Given the description of an element on the screen output the (x, y) to click on. 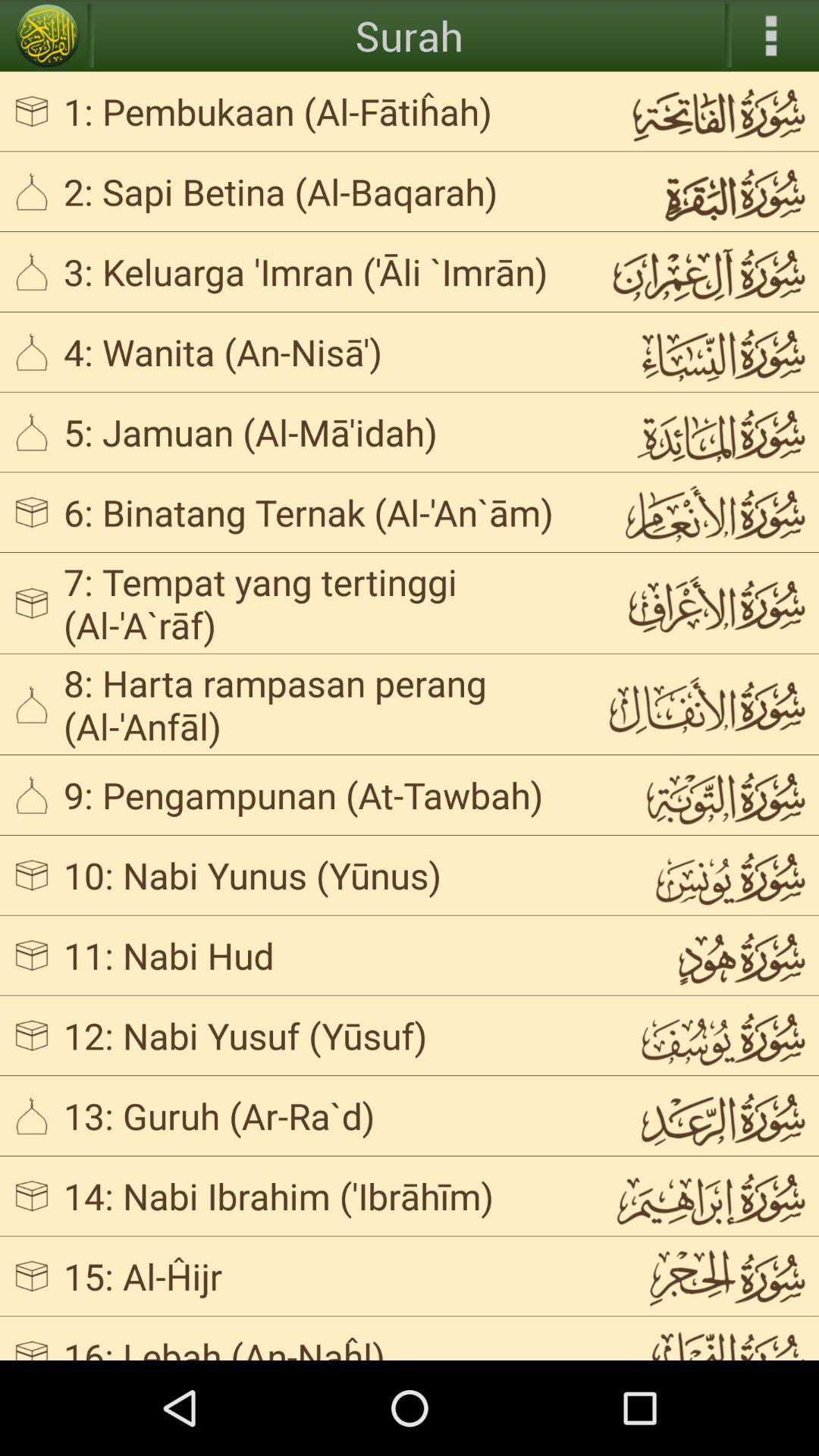
select app above 8 harta rampasan (322, 602)
